Given the description of an element on the screen output the (x, y) to click on. 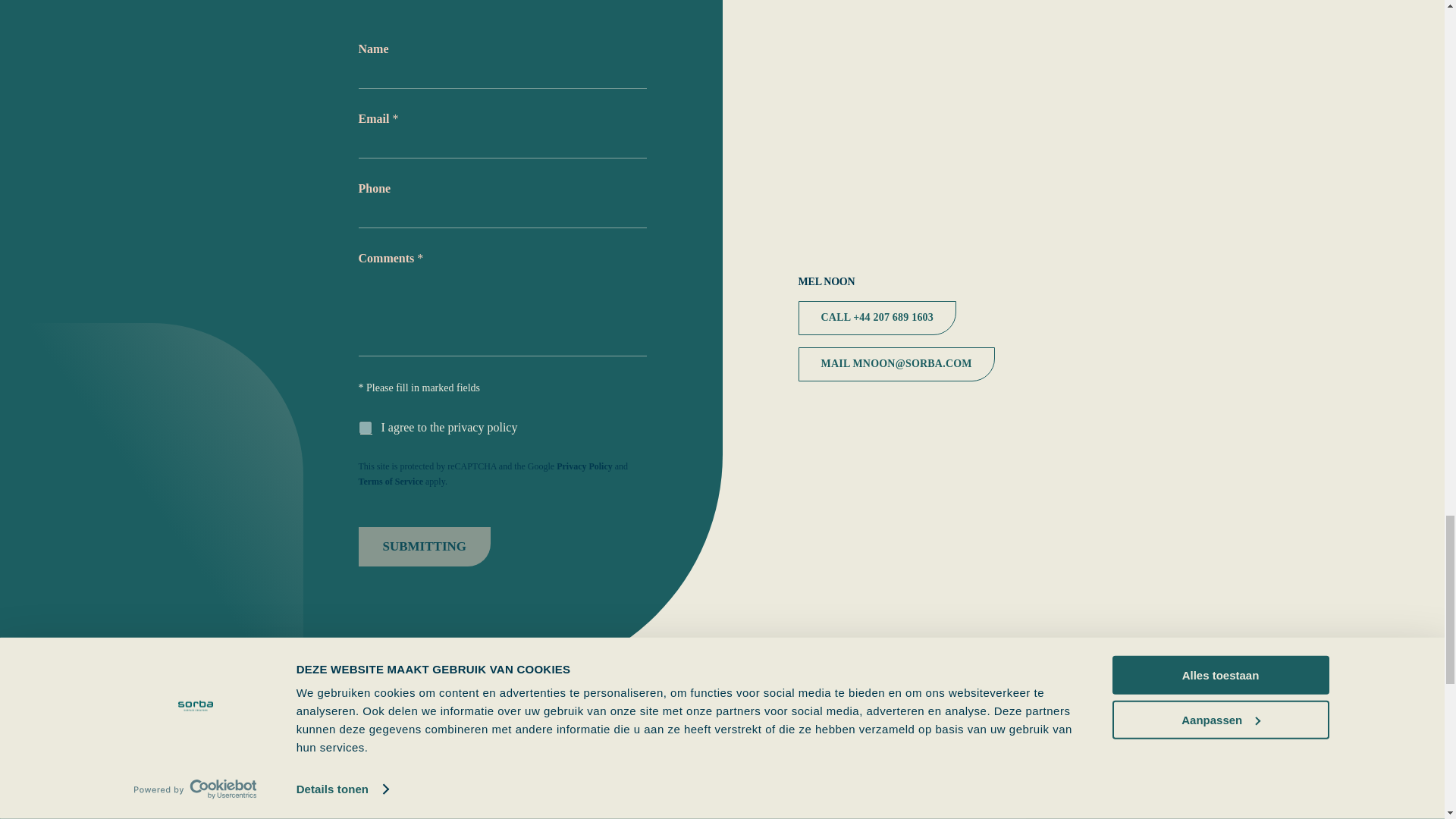
I agree to the privacy policy (365, 428)
